Given the description of an element on the screen output the (x, y) to click on. 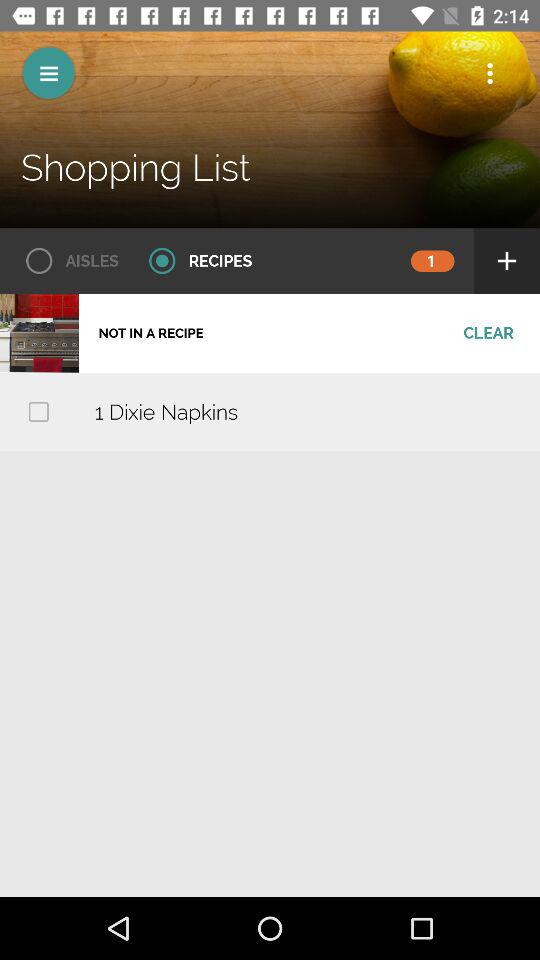
open menu (48, 72)
